Given the description of an element on the screen output the (x, y) to click on. 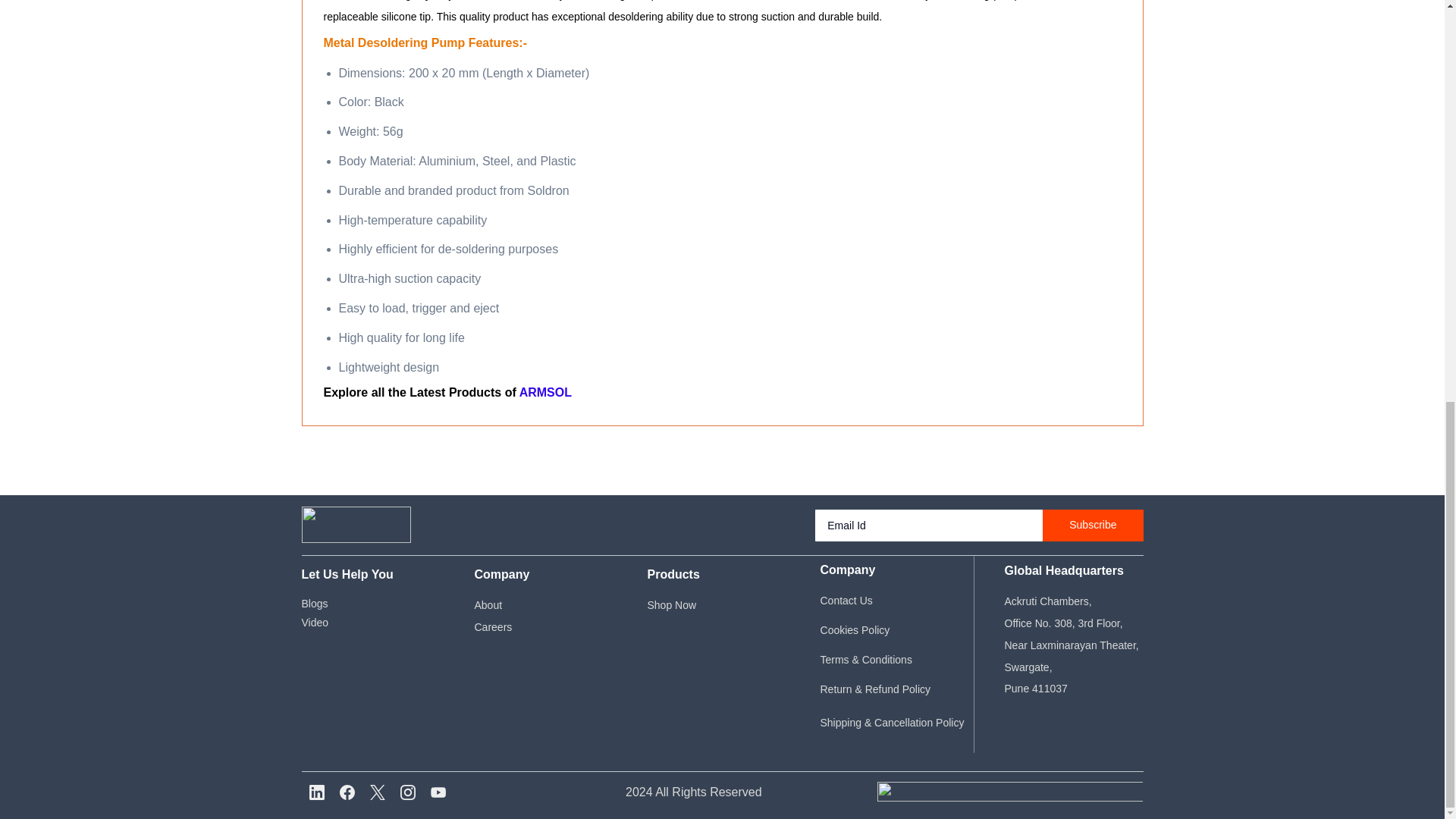
About (488, 604)
Blogs (315, 603)
ARMSOL (545, 391)
Video (315, 622)
Careers (493, 626)
Contact Us (837, 600)
Shop Now (672, 604)
